Given the description of an element on the screen output the (x, y) to click on. 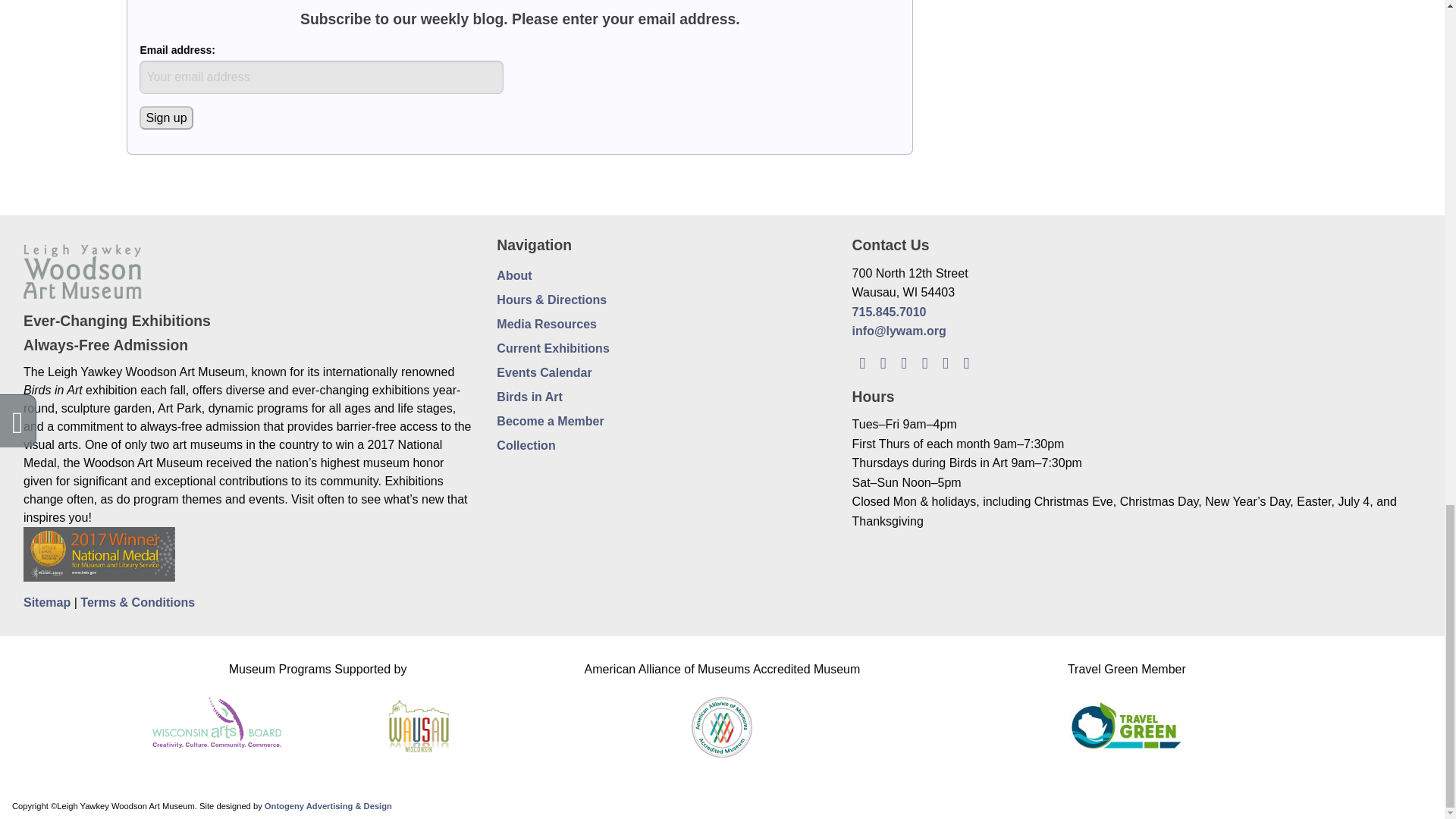
Wisconsin Arts Board (216, 717)
Contact Us (966, 362)
Like Us on Facebook (882, 362)
Sign up (165, 118)
Follow Us on Twitter (903, 362)
Instagram (924, 362)
City of Wausau (419, 722)
Travel Green Wisconsin (1125, 722)
American Alliance of Museums (721, 722)
Woodson Art Museum Blog (861, 362)
